Given the description of an element on the screen output the (x, y) to click on. 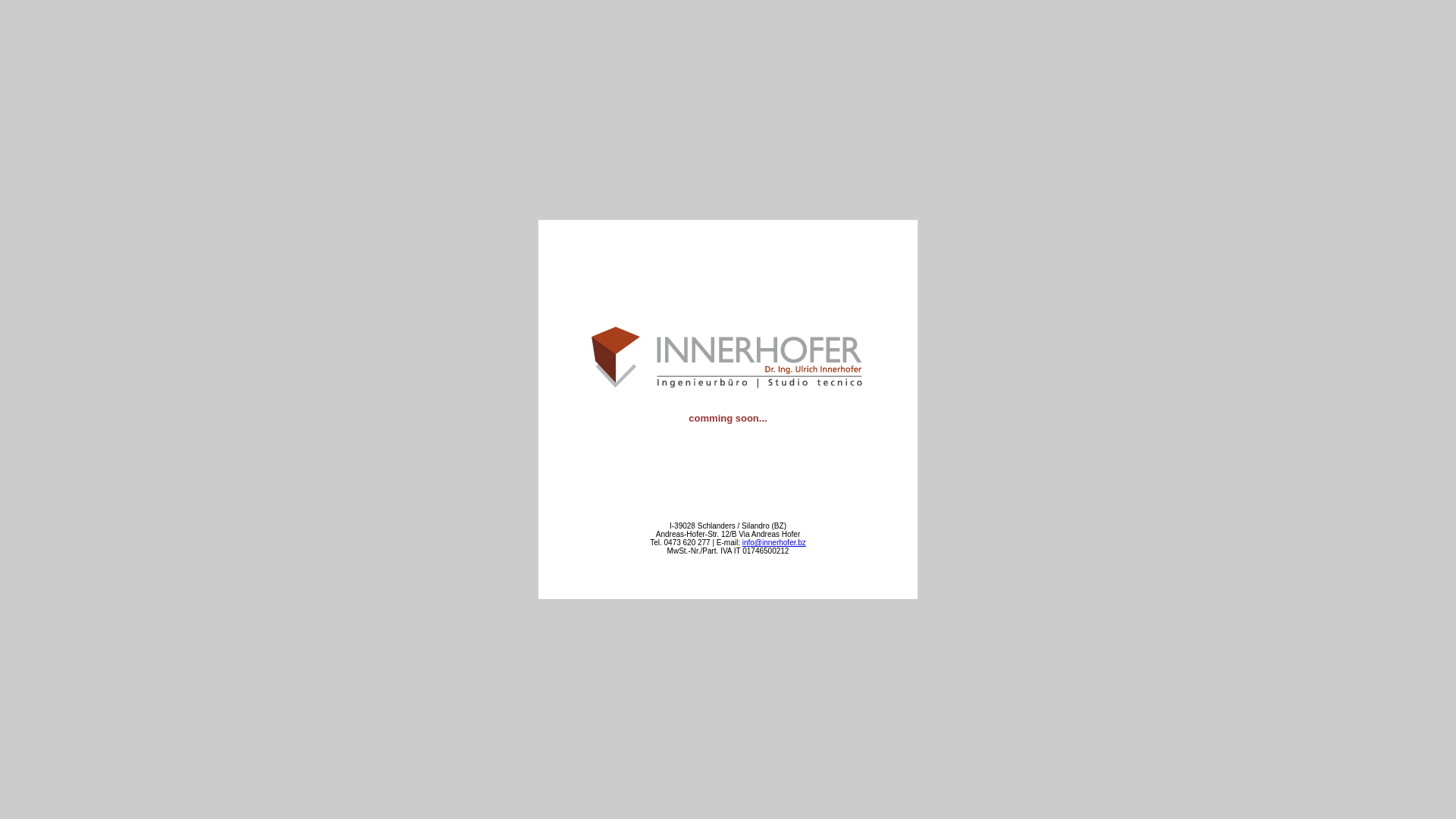
info@innerhofer.bz Element type: text (774, 542)
